Given the description of an element on the screen output the (x, y) to click on. 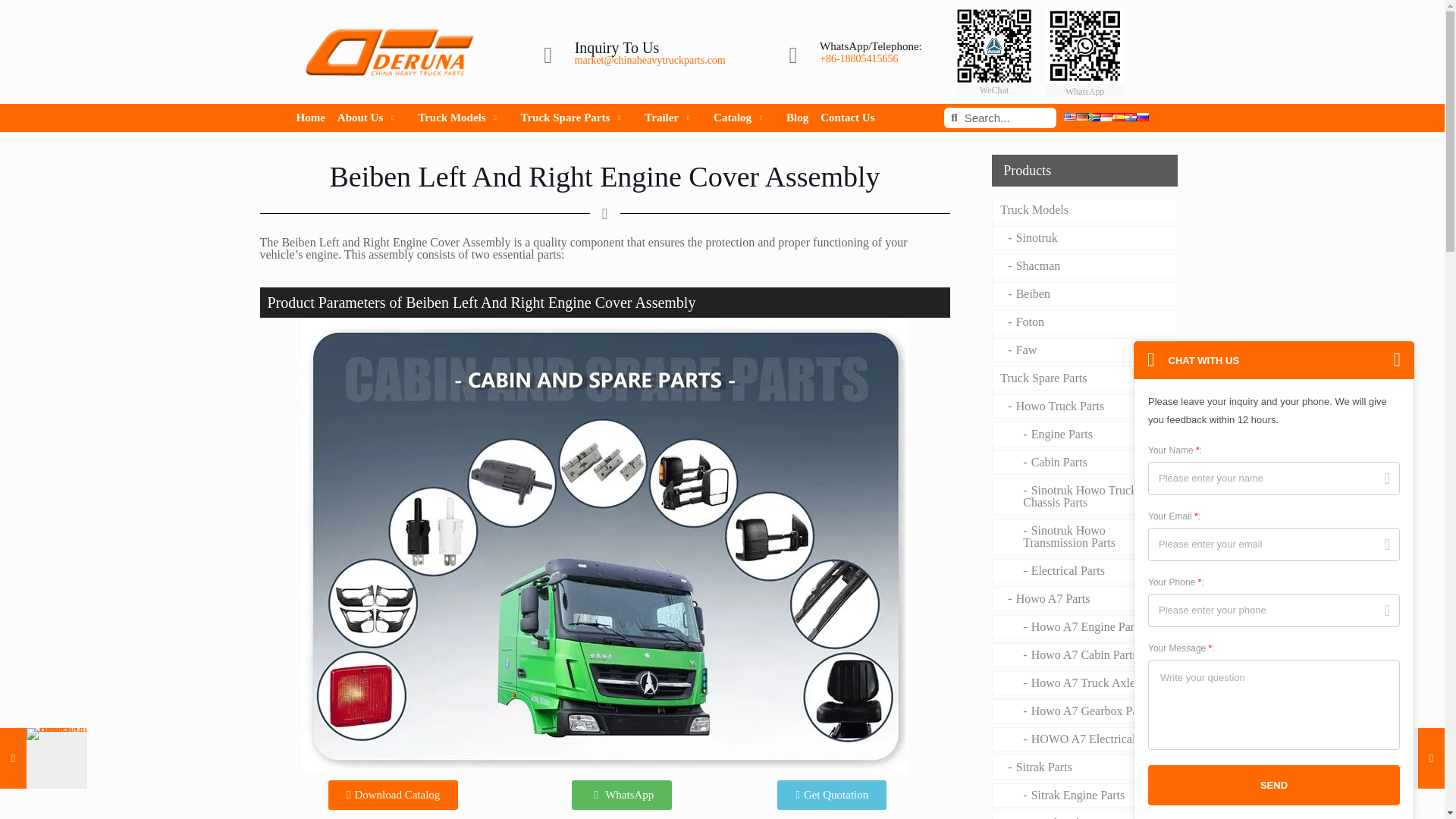
English (1069, 117)
Afrikaans (1093, 117)
Hrvatski (1130, 117)
Inquiry To Us (617, 47)
Deutsch (1081, 117)
Bahasa Indonesia (1106, 117)
